Given the description of an element on the screen output the (x, y) to click on. 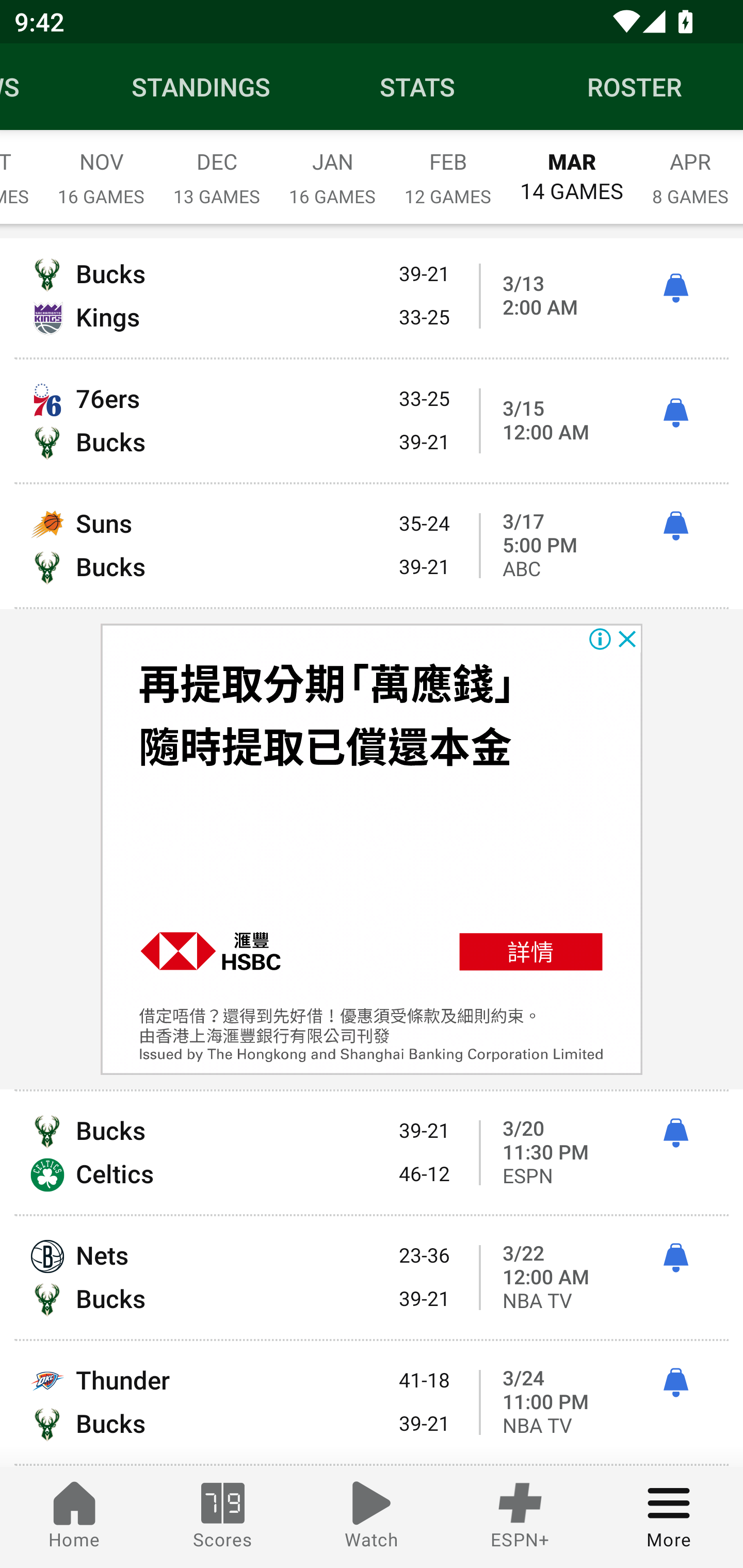
Standings STANDINGS (200, 86)
Stats STATS (417, 86)
Roster ROSTER (634, 86)
NOV 16 GAMES (101, 167)
DEC 13 GAMES (216, 167)
JAN 16 GAMES (332, 167)
FEB 12 GAMES (447, 167)
MAR 14 GAMES (571, 167)
APR 8 GAMES (690, 167)
Bucks 39-21 Kings 33-25 3/13 2:00 AM ì (371, 297)
ì (675, 288)
76ers 33-25 Bucks 39-21 3/15 12:00 AM ì (371, 420)
ì (675, 412)
Suns 35-24 Bucks 39-21 3/17 5:00 PM ì ABC (371, 545)
ì (675, 525)
300x250 (371, 849)
Bucks 39-21 Celtics 46-12 3/20 11:30 PM ì ESPN (371, 1152)
ì (675, 1132)
Nets 23-36 Bucks 39-21 3/22 12:00 AM ì NBA TV (371, 1277)
ì (675, 1257)
Thunder 41-18 Bucks 39-21 3/24 11:00 PM ì NBA TV (371, 1402)
ì (675, 1382)
Home (74, 1517)
Scores (222, 1517)
Watch (371, 1517)
ESPN+ (519, 1517)
